Given the description of an element on the screen output the (x, y) to click on. 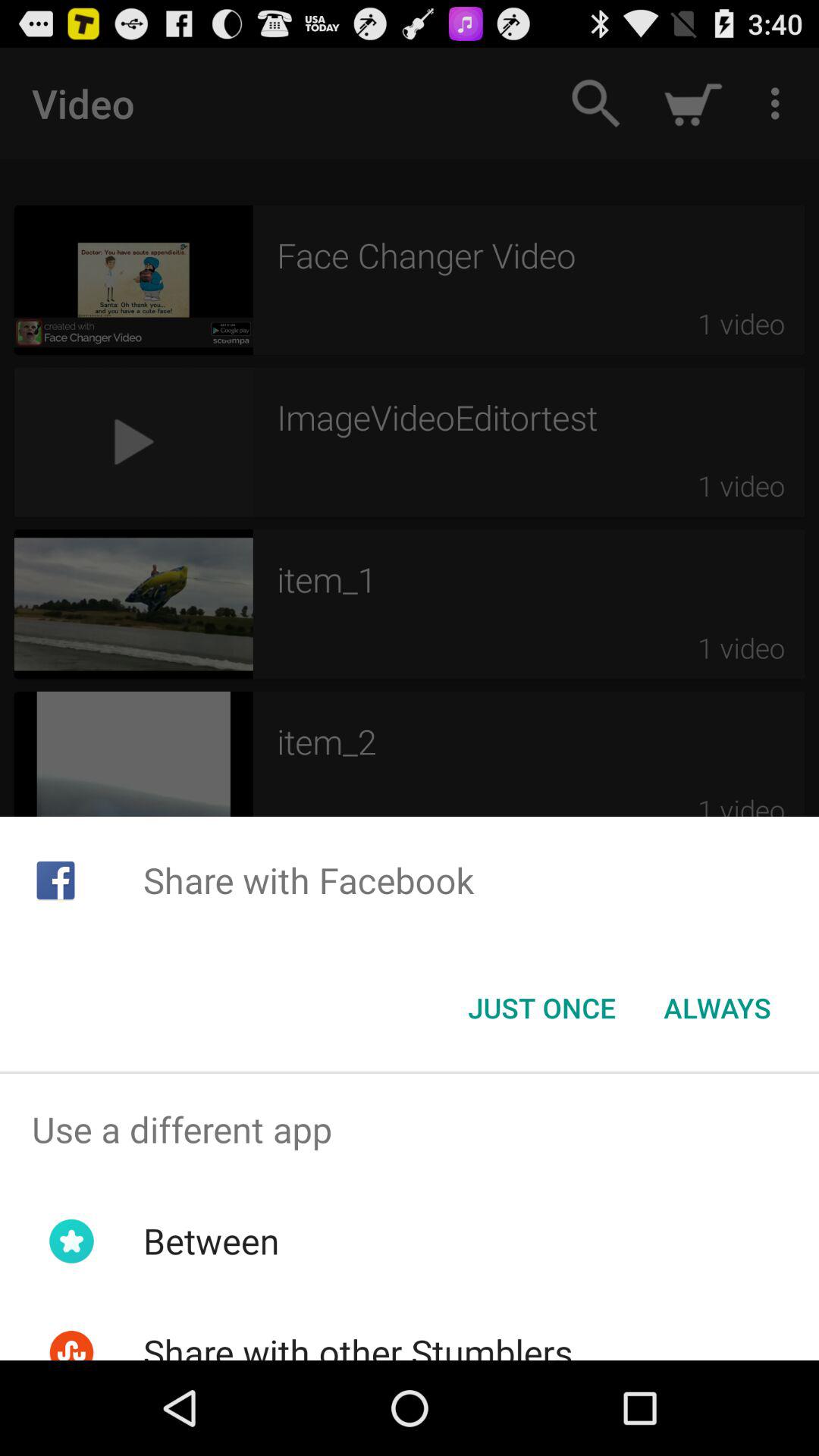
flip until always (717, 1007)
